Given the description of an element on the screen output the (x, y) to click on. 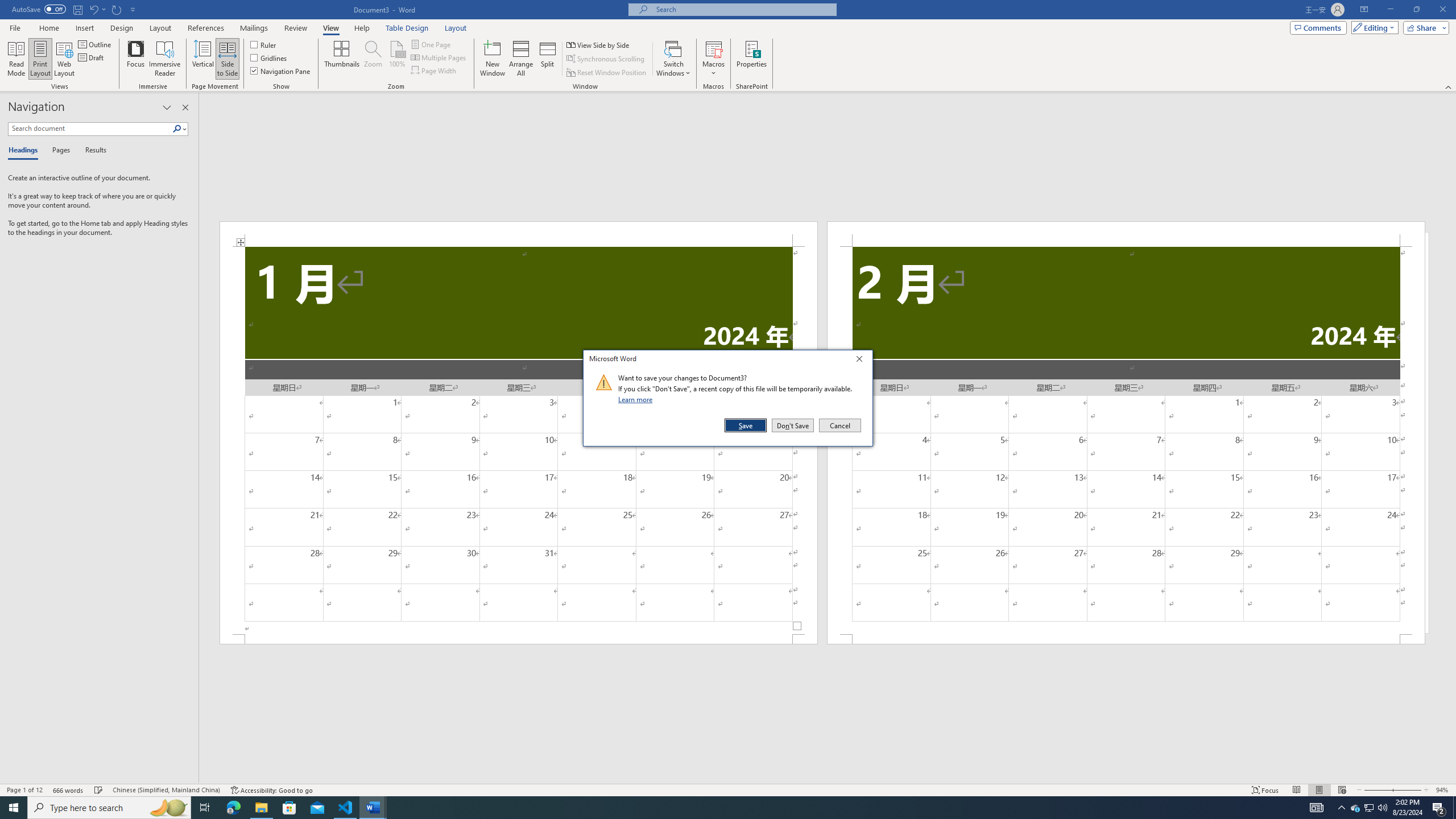
View Macros (713, 48)
Word Count 666 words (68, 790)
Task View (204, 807)
Properties (751, 58)
AutomationID: 4105 (1316, 807)
Table Design (407, 28)
Thumbnails (342, 58)
